Given the description of an element on the screen output the (x, y) to click on. 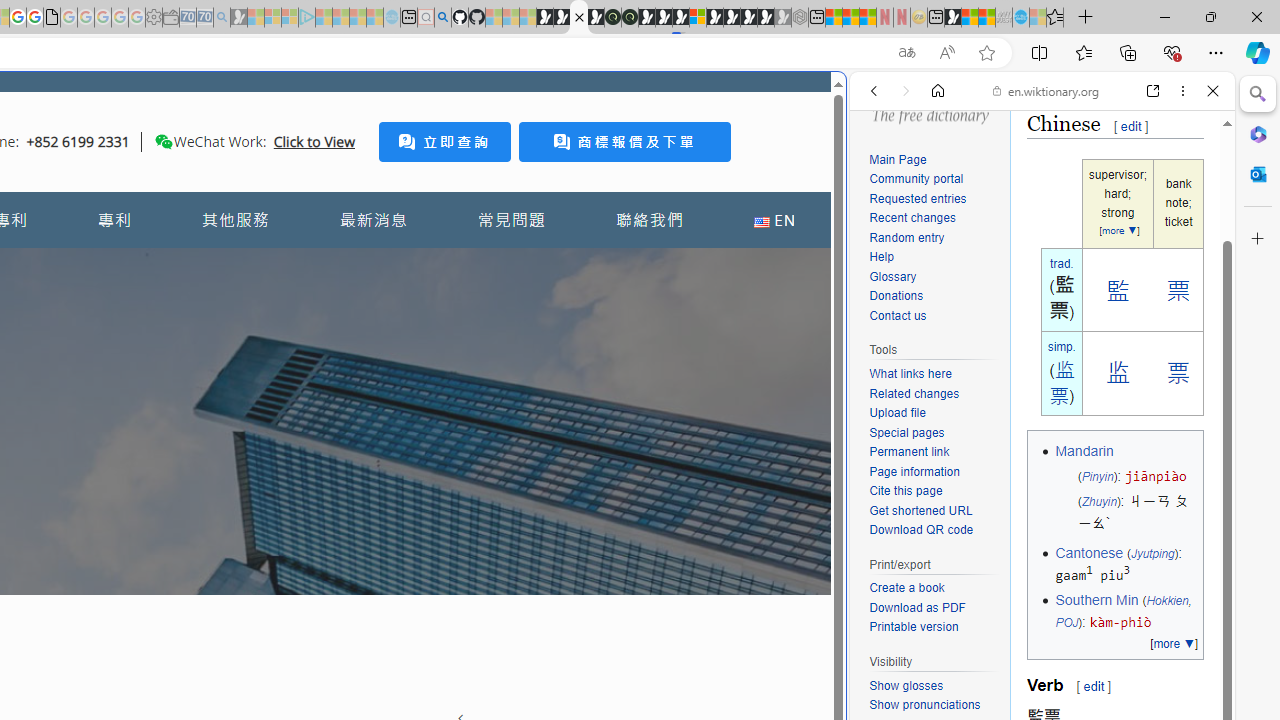
Tabs you've opened (276, 265)
Get shortened URL (920, 510)
Pinyin (1097, 476)
Cantonese (Jyutping): gaam1 piu3 (1126, 564)
Community portal (934, 179)
Settings - Sleeping (153, 17)
github - Search (442, 17)
